Given the description of an element on the screen output the (x, y) to click on. 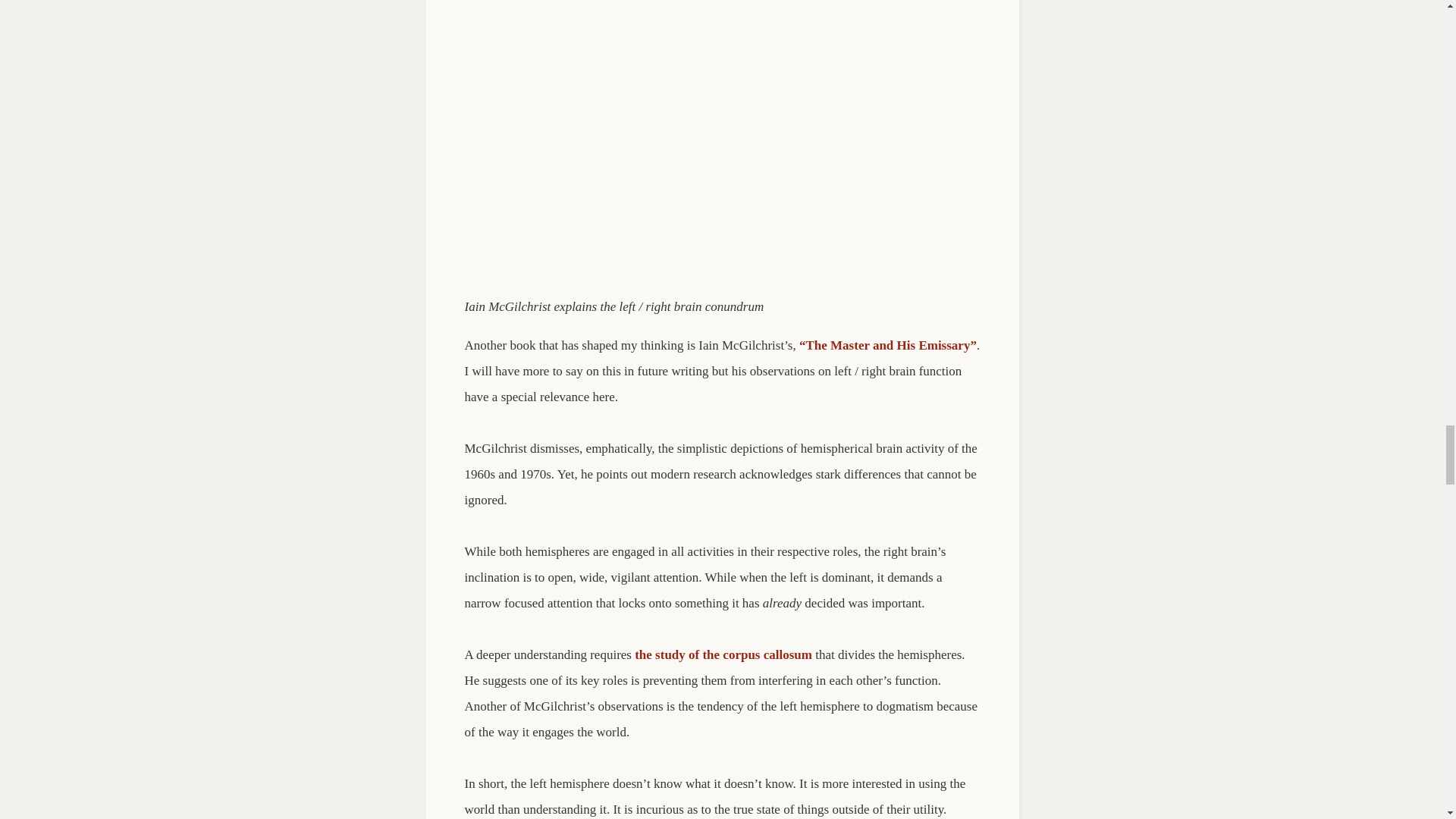
the study of the corpus callosum (723, 654)
